Given the description of an element on the screen output the (x, y) to click on. 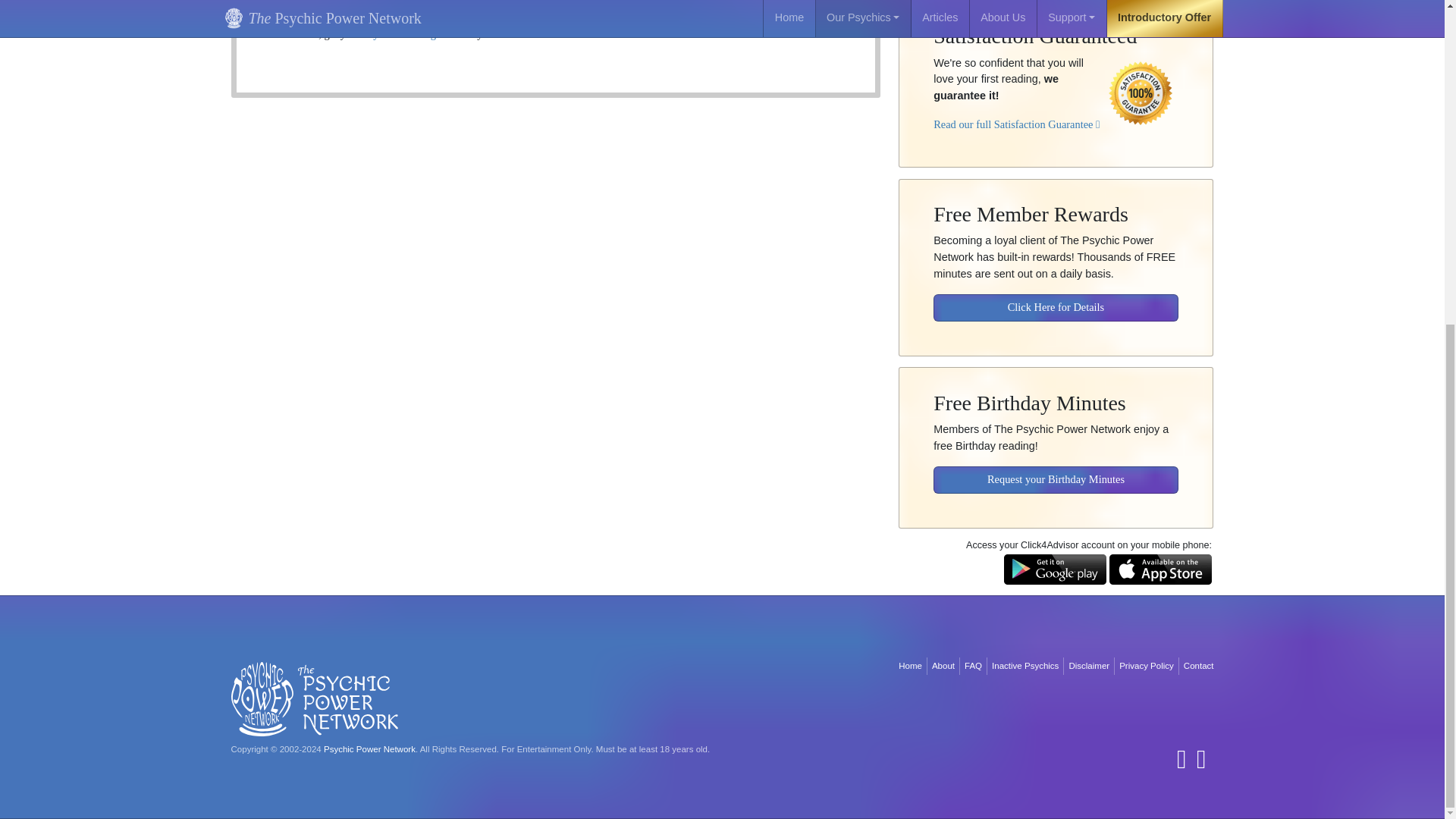
Psychic Readings (401, 33)
Home (909, 665)
